Given the description of an element on the screen output the (x, y) to click on. 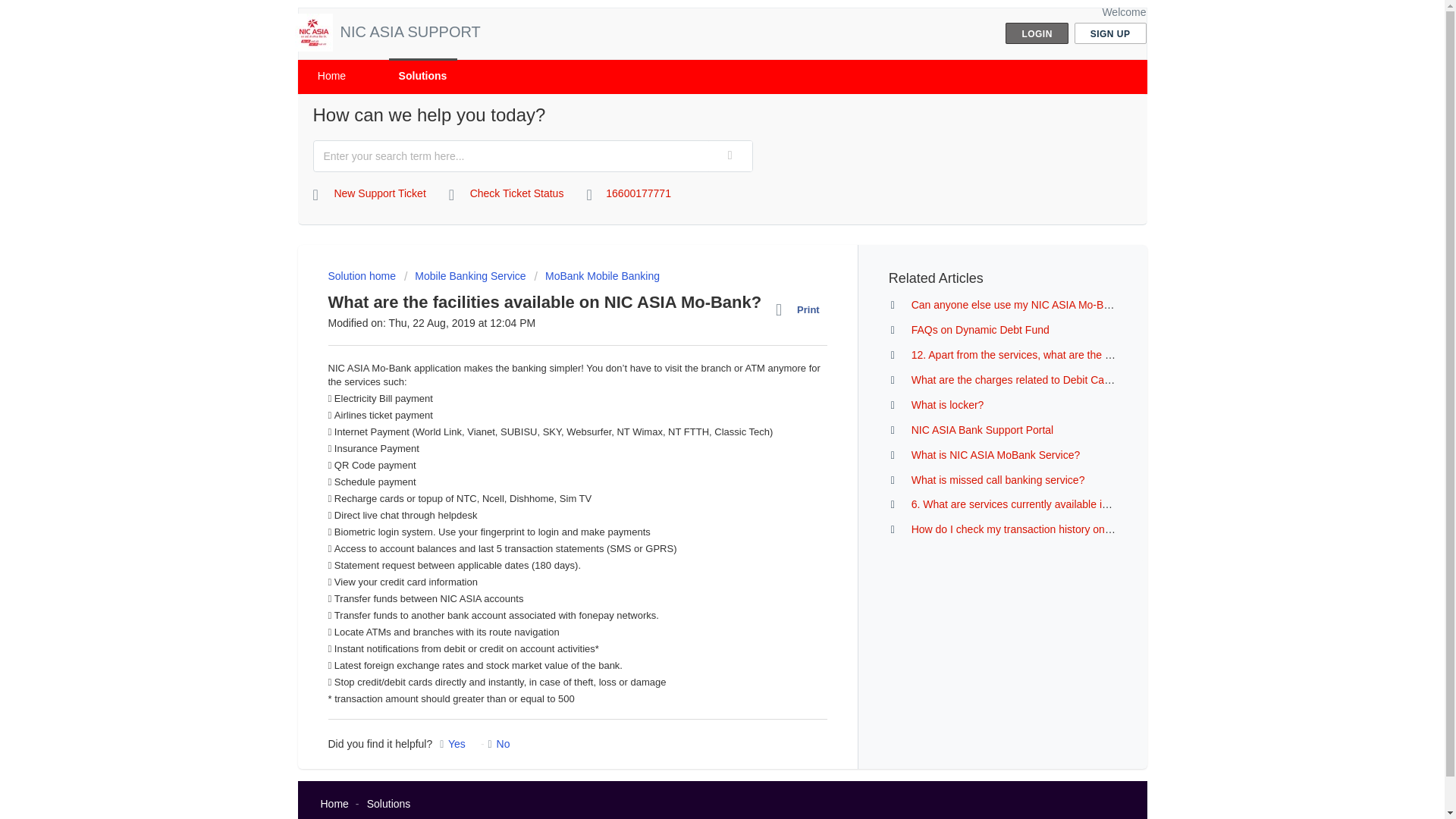
Home (333, 803)
Can anyone else use my NIC ASIA Mo-Bank? (1018, 304)
MoBank Mobile Banking (596, 275)
What is locker? (947, 404)
What is NIC ASIA MoBank Service? (995, 454)
SIGN UP (1110, 33)
Mobile Banking Service (464, 275)
Solution home (362, 275)
Print this Article (801, 310)
